Given the description of an element on the screen output the (x, y) to click on. 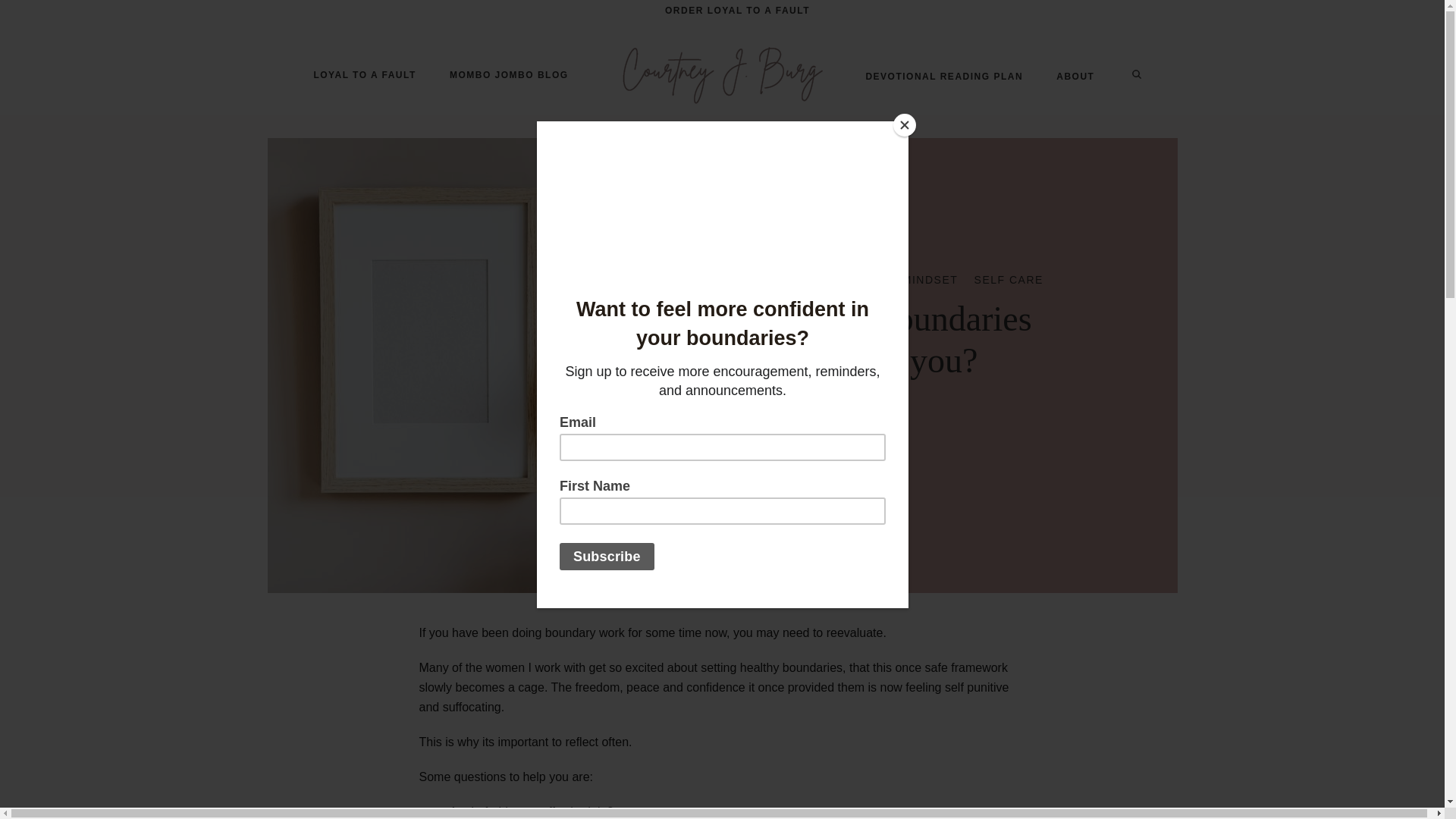
LOYAL TO A FAULT (364, 74)
GROWTH MINDSET (900, 279)
SELF CARE (1008, 279)
BOUNDARIES (785, 279)
DEVOTIONAL READING PLAN (944, 76)
COURTNEY J. BURG (813, 424)
ABOUT (1075, 76)
MOMBO JOMBO BLOG (508, 74)
ORDER LOYAL TO A FAULT (737, 10)
